Given the description of an element on the screen output the (x, y) to click on. 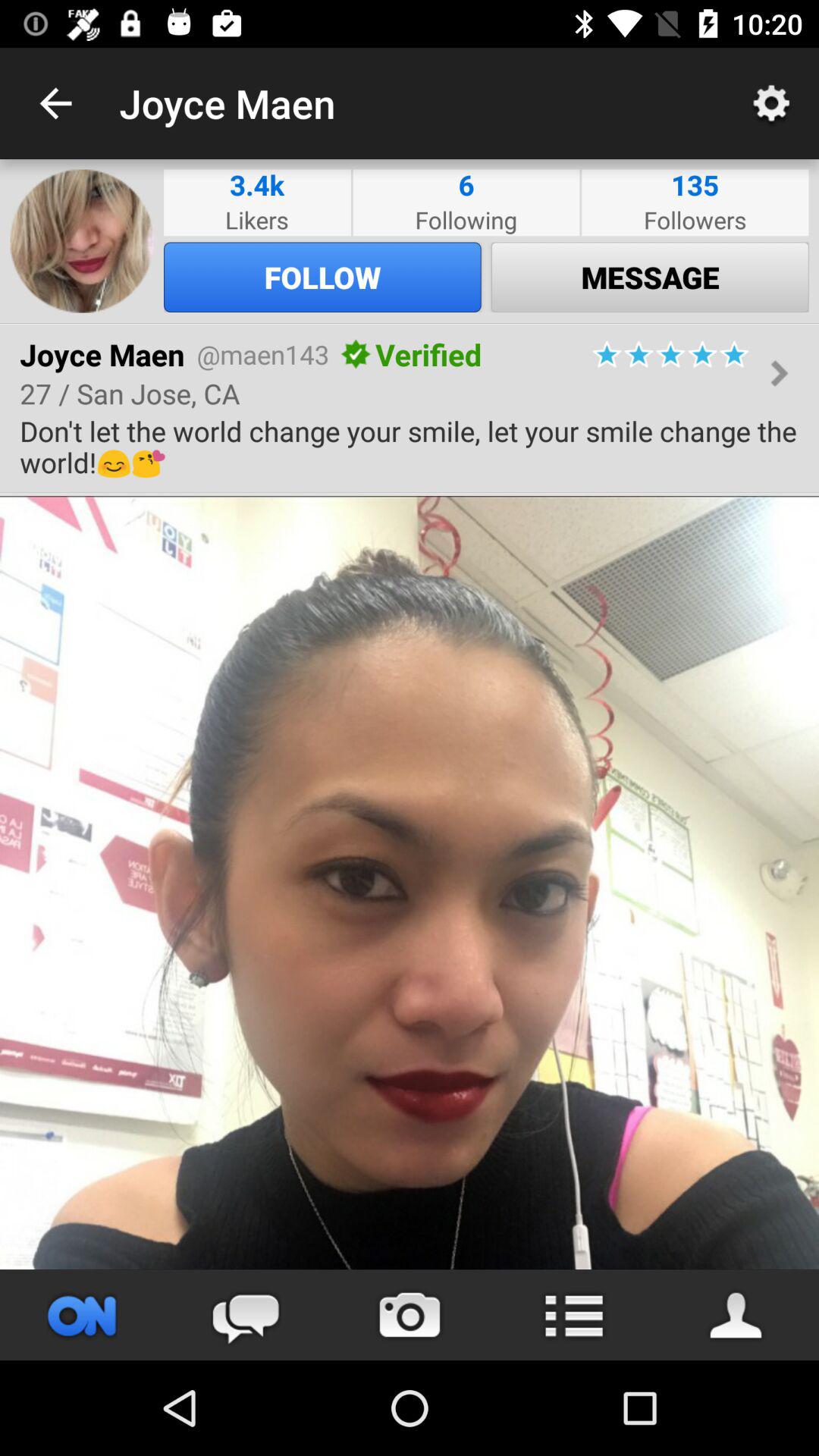
launch 135 icon (694, 184)
